Given the description of an element on the screen output the (x, y) to click on. 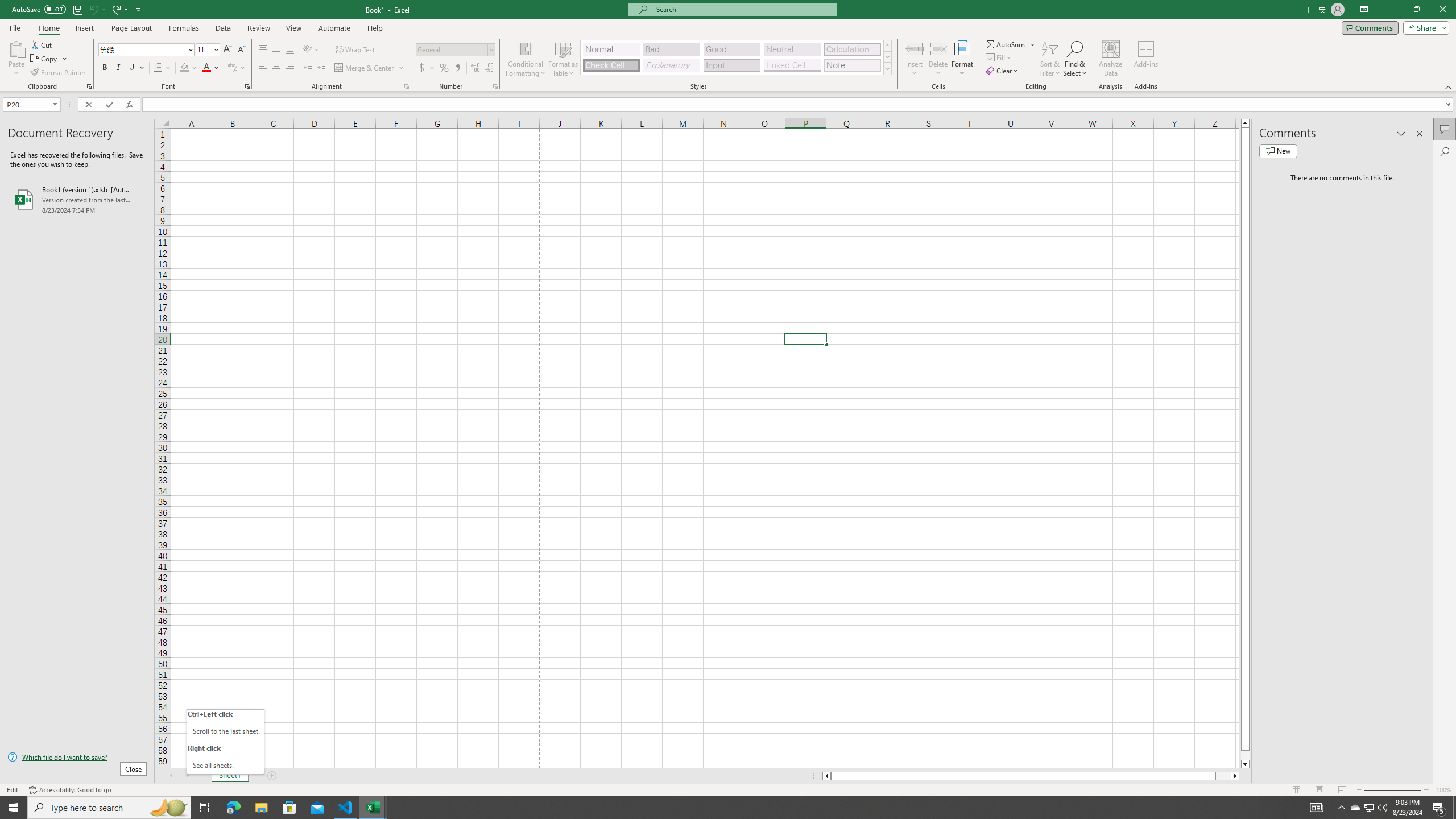
Linked Cell (791, 65)
Bold (104, 67)
Bottom Border (157, 67)
Explanatory Text (671, 65)
Decrease Font Size (240, 49)
Format Cell Font (247, 85)
Middle Align (276, 49)
Cut (42, 44)
Cell Styles (887, 68)
